Given the description of an element on the screen output the (x, y) to click on. 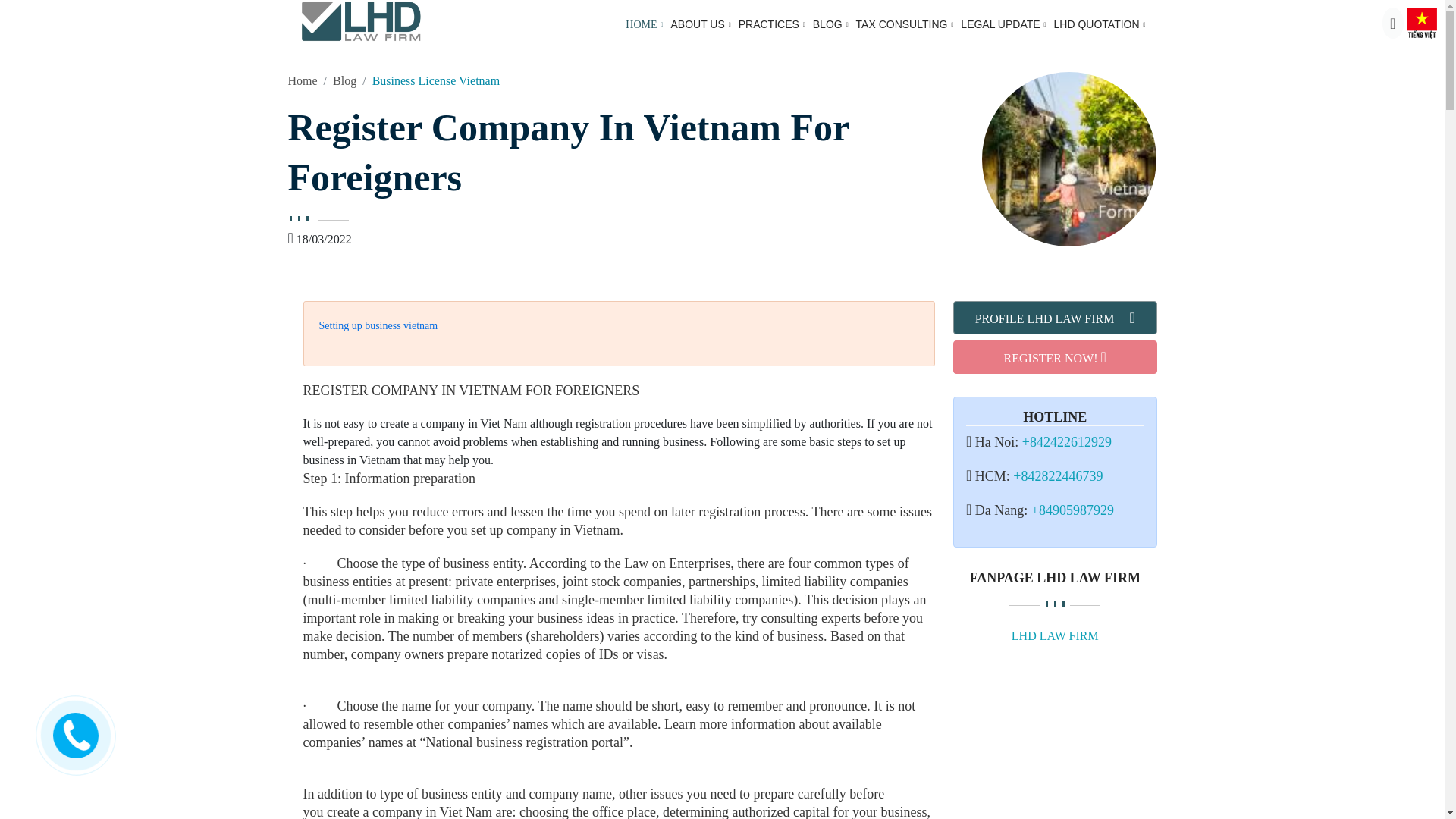
BLOG (830, 24)
Business License Vietnam (436, 80)
PRACTICES (771, 24)
Home (302, 80)
TAX CONSULTING (904, 24)
vietnam (1421, 21)
ABOUT US (699, 24)
HOME (644, 24)
Luat Hong Duc (359, 19)
Blog (344, 80)
